Given the description of an element on the screen output the (x, y) to click on. 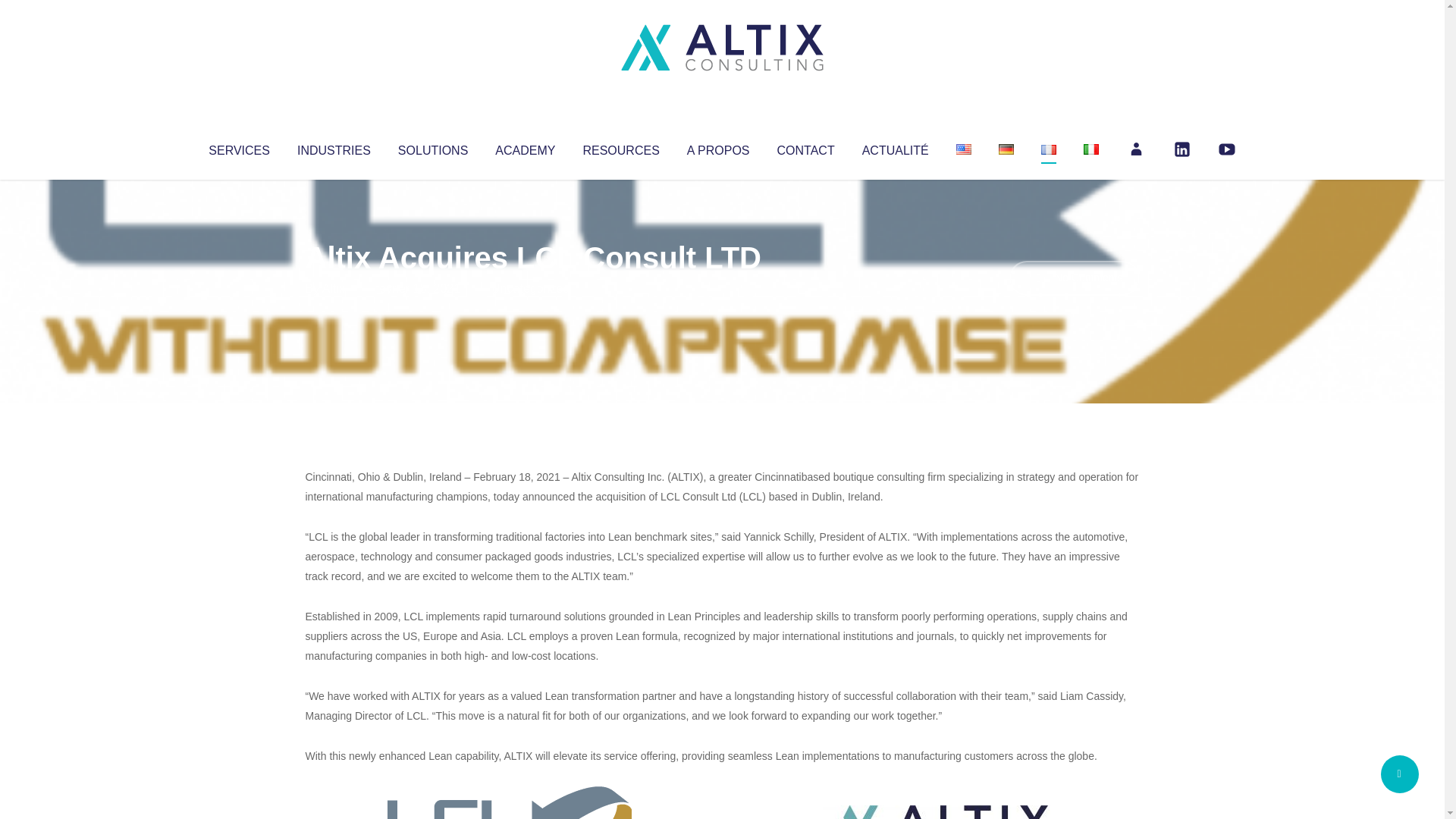
Uncategorized (530, 287)
RESOURCES (620, 146)
SOLUTIONS (432, 146)
No Comments (1073, 278)
Articles par Altix (333, 287)
INDUSTRIES (334, 146)
ACADEMY (524, 146)
A PROPOS (718, 146)
SERVICES (238, 146)
Altix (333, 287)
